Given the description of an element on the screen output the (x, y) to click on. 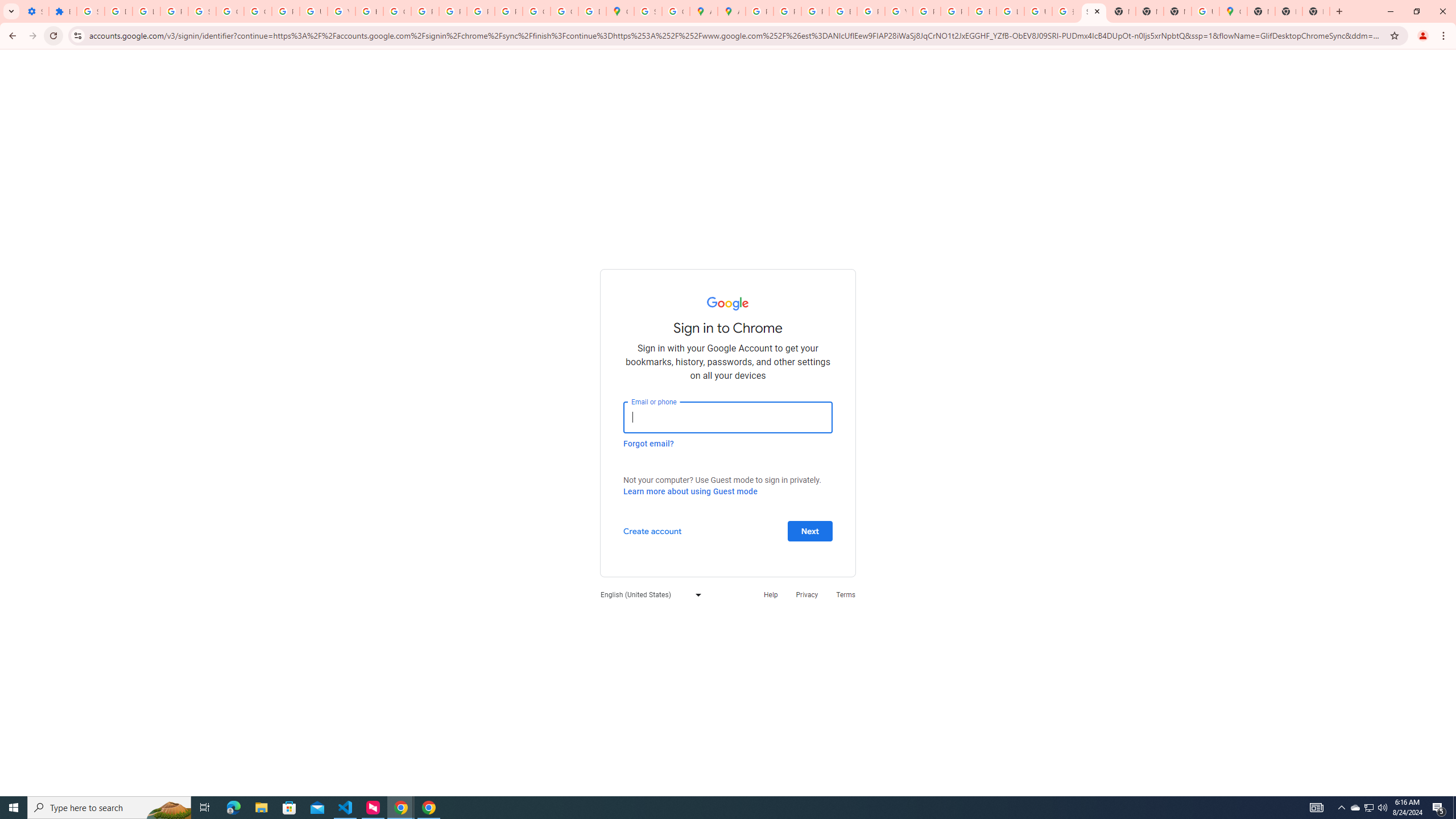
Use Google Maps in Space - Google Maps Help (1205, 11)
New Tab (1177, 11)
English (United States) (647, 594)
Learn more about using Guest mode (689, 491)
Sign in - Google Accounts (90, 11)
